Given the description of an element on the screen output the (x, y) to click on. 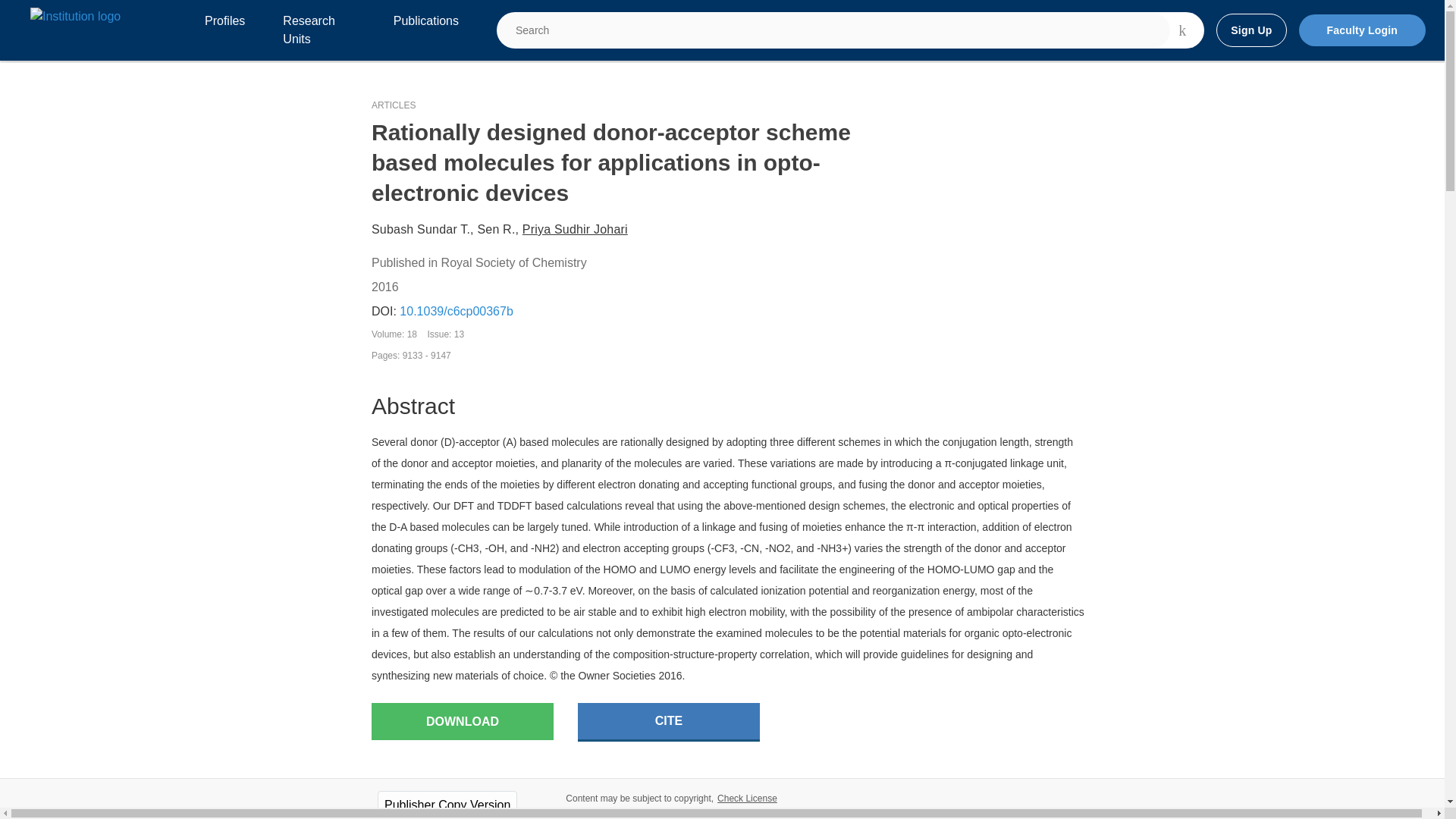
Priya Sudhir Johari (574, 228)
Research Units (318, 30)
CITE (669, 722)
Sign Up (1250, 29)
Institution logo (75, 16)
Publications (425, 30)
DOWNLOAD (462, 721)
Faculty Login (1361, 29)
Profiles (224, 30)
Check License (747, 798)
